Given the description of an element on the screen output the (x, y) to click on. 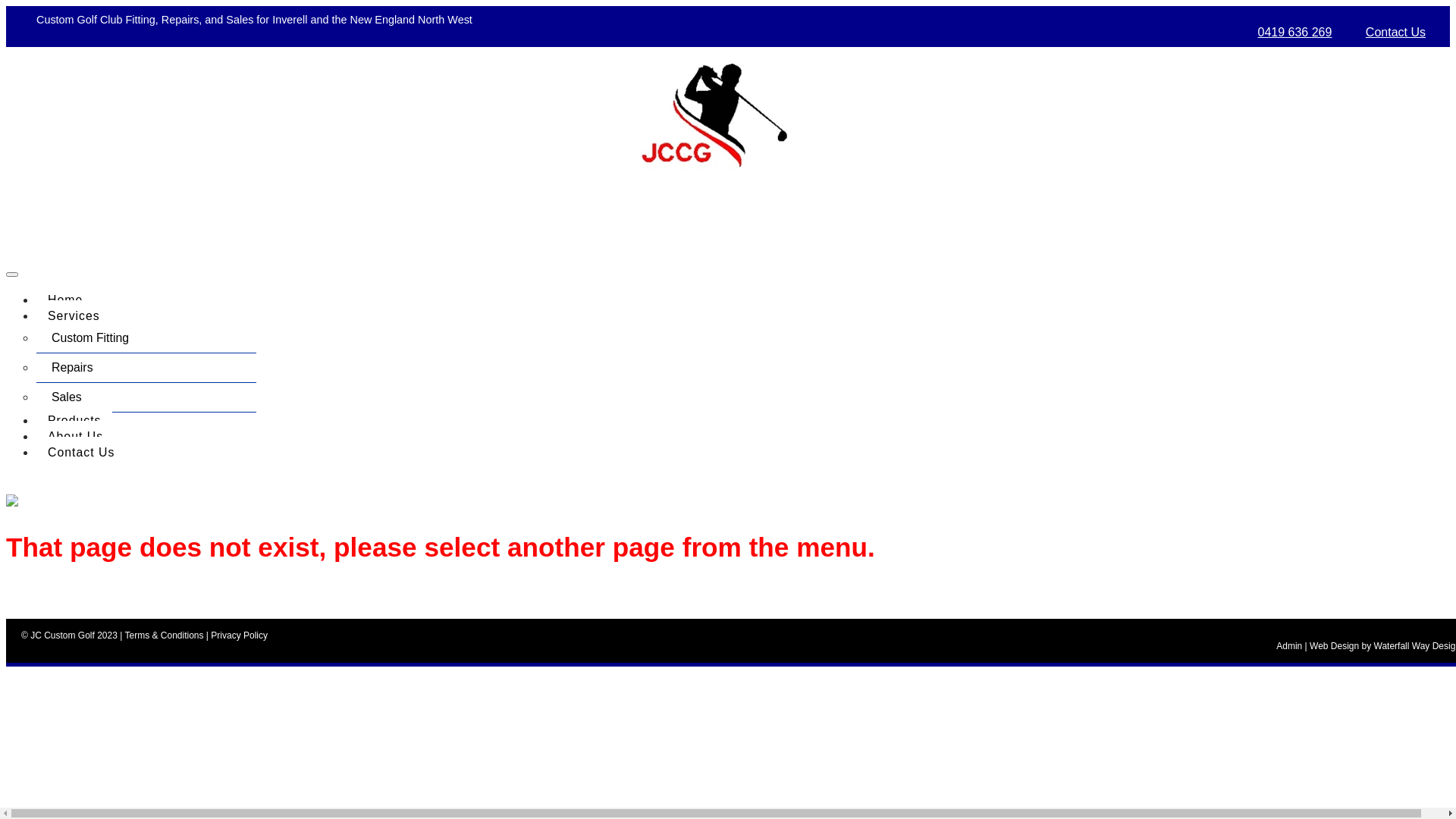
Admin Element type: text (1289, 645)
Custom Fitting Element type: text (146, 338)
Repairs Element type: text (146, 367)
Sales Element type: text (146, 397)
About Us Element type: text (75, 435)
0419 636 269 Element type: text (1295, 31)
Privacy Policy Element type: text (238, 635)
Home Element type: text (65, 298)
Contact Us Element type: text (80, 451)
Products Element type: text (74, 419)
Terms & Conditions Element type: text (163, 635)
Services Element type: text (73, 314)
Contact Us Element type: text (1395, 31)
